Given the description of an element on the screen output the (x, y) to click on. 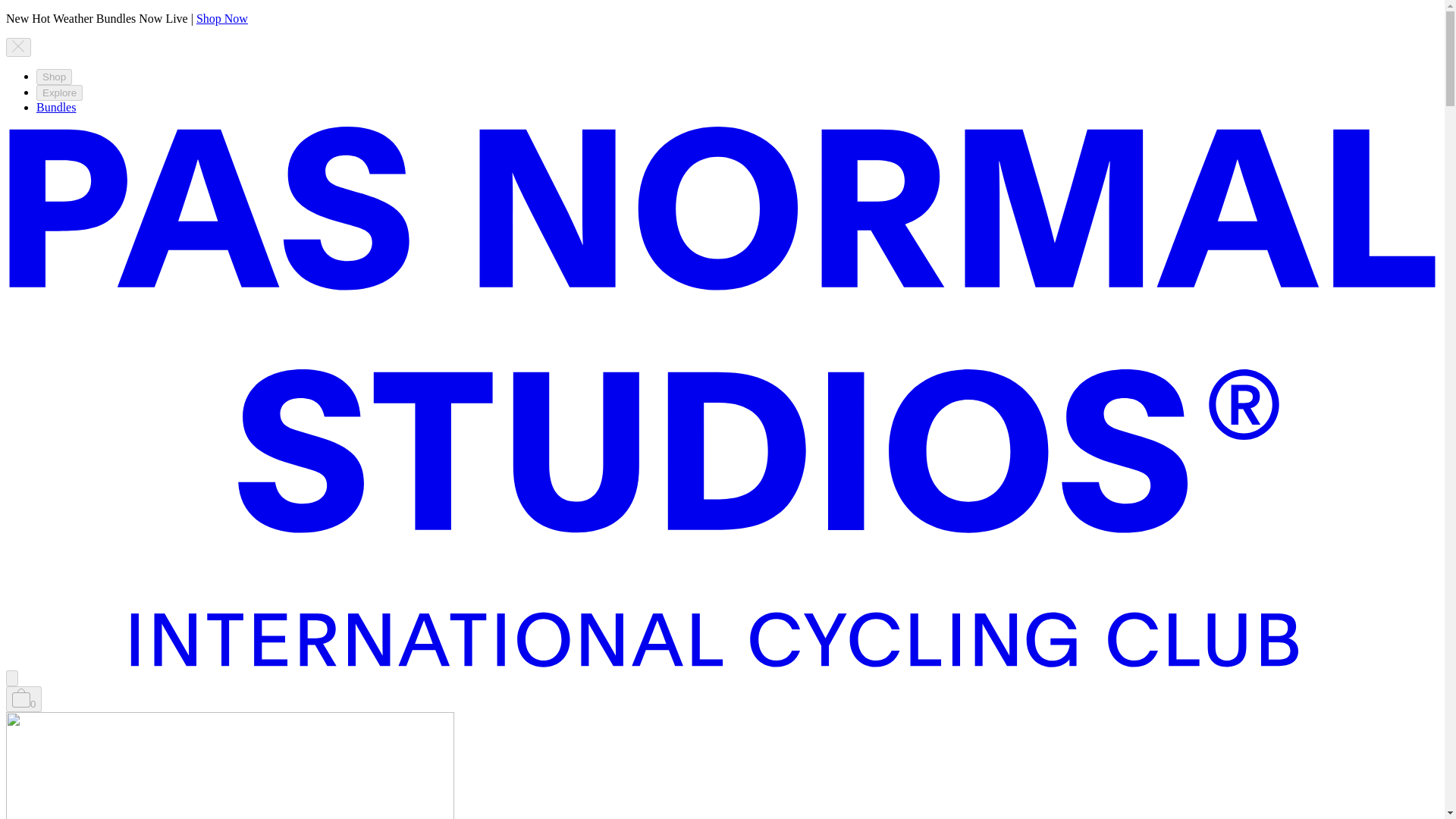
Shop (53, 76)
0 (23, 698)
Explore (59, 92)
Shop Now (221, 18)
